Given the description of an element on the screen output the (x, y) to click on. 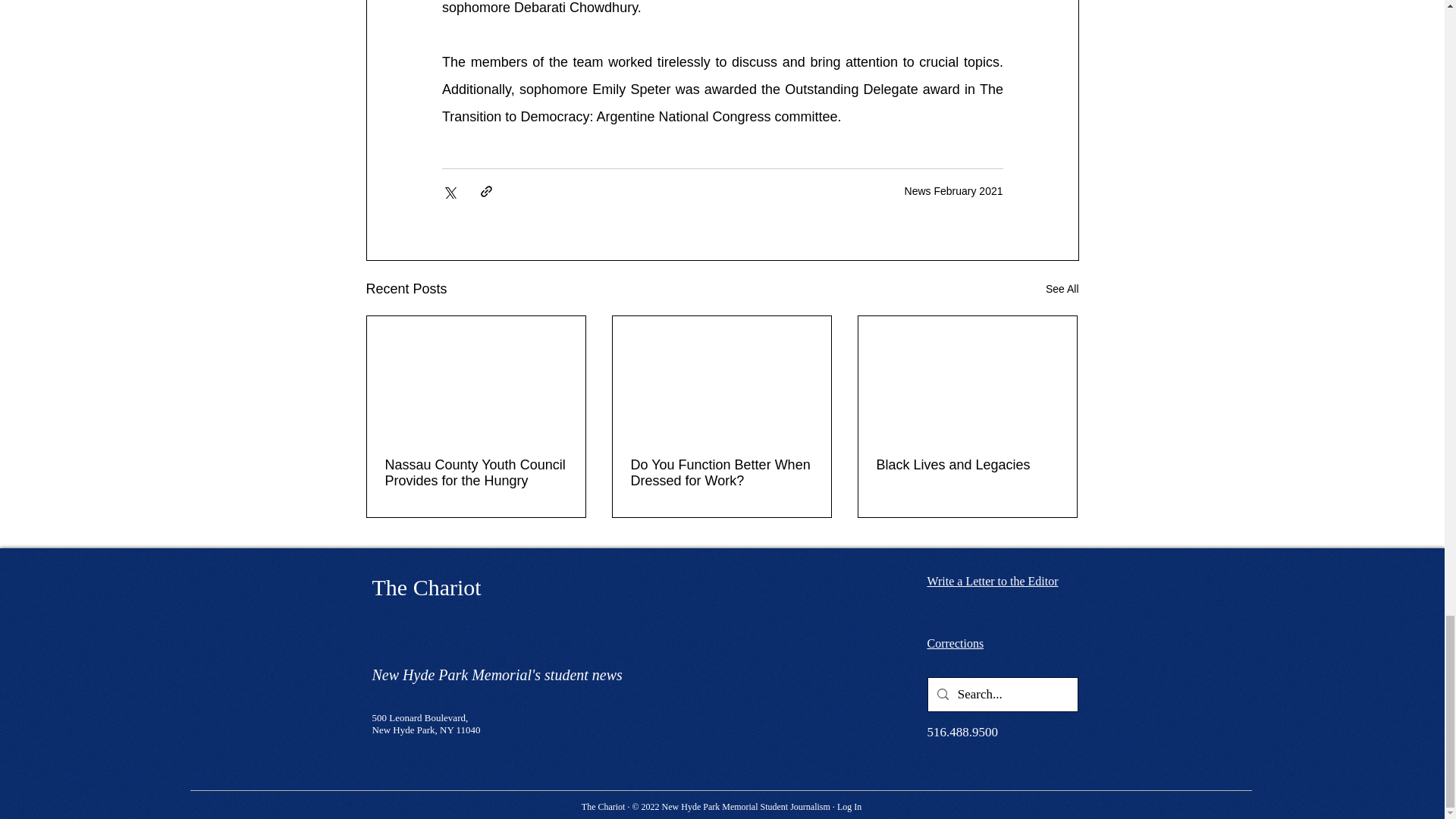
See All (1061, 288)
Write a Letter to the Editor (992, 581)
Nassau County Youth Council Provides for the Hungry (476, 472)
Do You Function Better When Dressed for Work? (721, 472)
Corrections (955, 643)
Black Lives and Legacies (967, 464)
News February 2021 (953, 191)
Log In (849, 805)
